Given the description of an element on the screen output the (x, y) to click on. 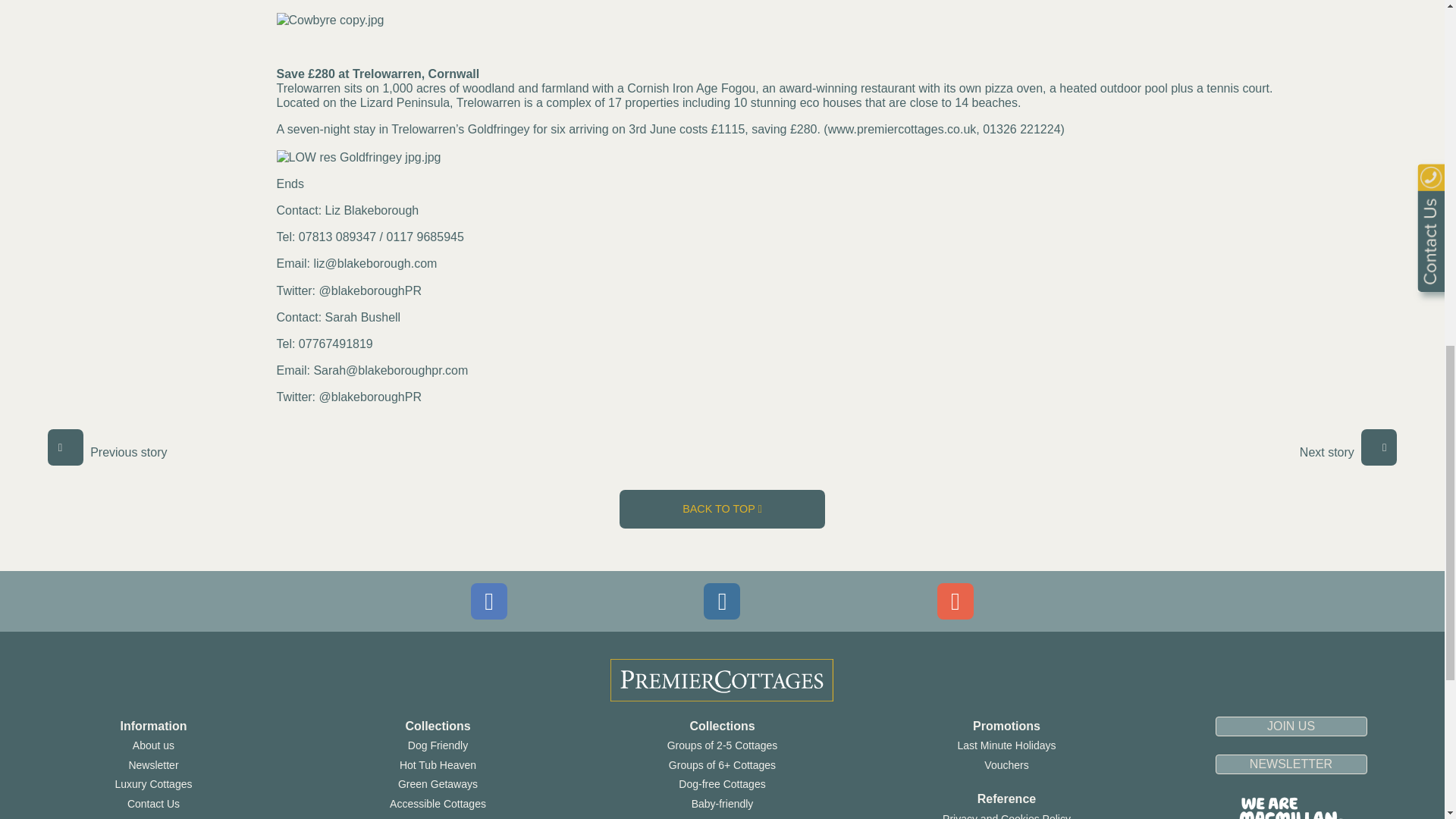
Contact Us (153, 803)
Luxury Cottages (153, 784)
Follow us on Instagram (721, 601)
Follow us on Facebook (488, 601)
Dog Friendly (437, 745)
BACK TO TOP (722, 508)
Hot Tub Heaven (437, 765)
About Premier Cottages (153, 745)
Luxury Cottages (153, 784)
Green Getaways (437, 784)
Join Us (153, 818)
Follow us on YouTube (955, 601)
Newsletter (152, 765)
About us (153, 745)
Newsletter (152, 765)
